Given the description of an element on the screen output the (x, y) to click on. 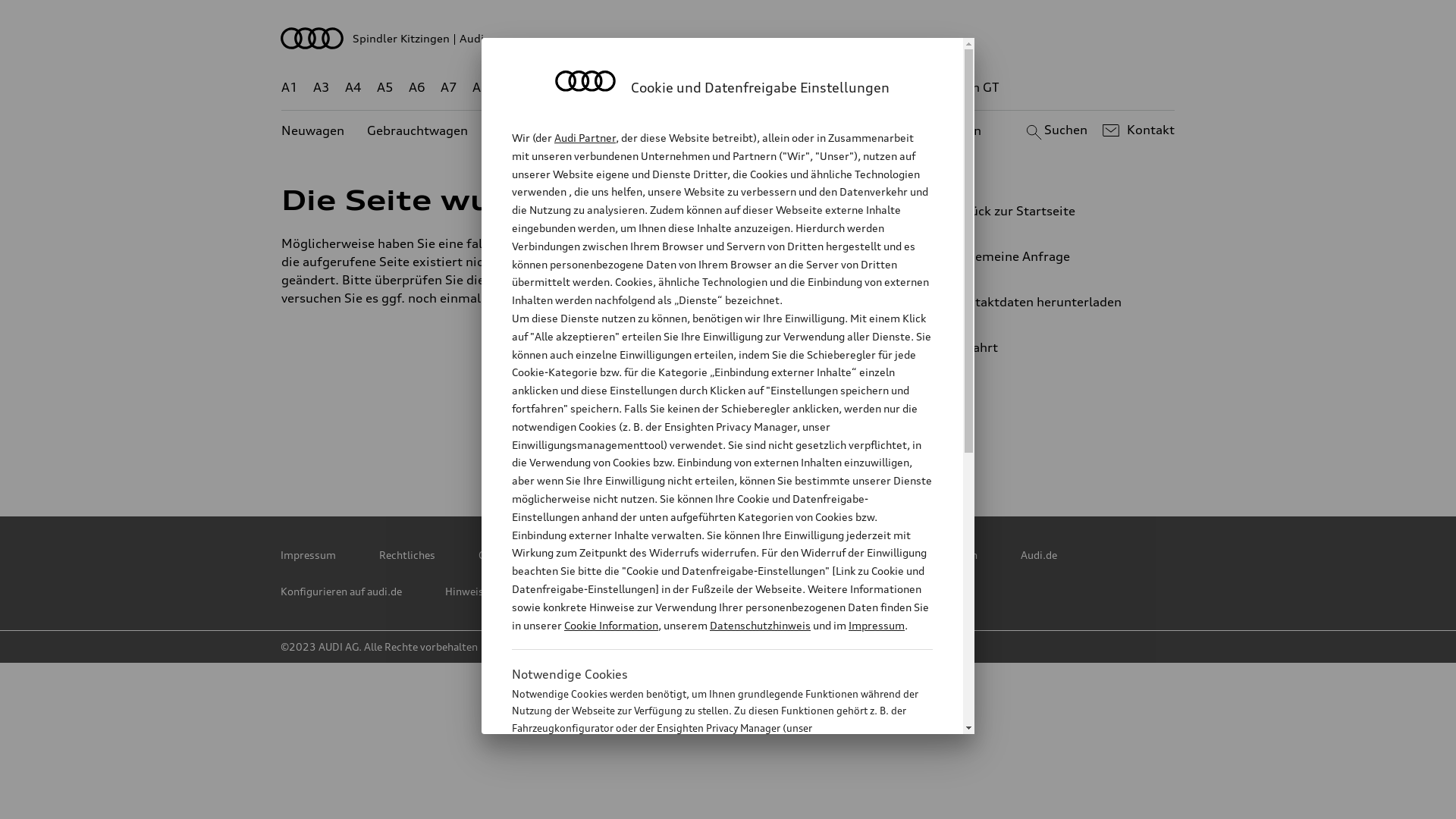
Twitter Element type: hover (596, 444)
A4 Element type: text (353, 87)
g-tron Element type: text (908, 87)
TT Element type: text (820, 87)
RS Element type: text (866, 87)
Datenschutzhinweis Element type: text (759, 624)
Pinterest Element type: hover (663, 444)
Cookie Information Element type: text (611, 624)
Hinweisgebersystem Element type: text (495, 591)
Spindler Kitzingen | Audi Element type: text (727, 38)
A5 Element type: text (384, 87)
Facebook Element type: hover (730, 444)
Copyright & Haftungsausschluss Element type: text (557, 554)
A1 Element type: text (289, 87)
A8 Element type: text (480, 87)
Q2 Element type: text (512, 87)
A7 Element type: text (448, 87)
Suchen Element type: text (1054, 130)
Anfahrt Element type: text (1049, 347)
Cookie Policy Element type: text (711, 554)
Impressum Element type: text (876, 624)
Rechtliches Element type: text (407, 554)
Q8 Element type: text (715, 87)
Q4 e-tron Element type: text (598, 87)
Instagram Element type: hover (863, 444)
Audi Partner Element type: text (584, 137)
Kontakt Element type: text (1135, 130)
e-tron GT Element type: text (970, 87)
Allgemeine Anfrage Element type: text (1043, 256)
Impressum Element type: text (307, 554)
Kundenservice Element type: text (736, 130)
Q3 Element type: text (545, 87)
Kontaktdaten herunterladen Element type: text (1043, 301)
Cookie und Datenfreigabe Einstellungen Element type: text (881, 554)
Cookie Information Element type: text (705, 802)
Gebrauchtwagen Element type: text (417, 130)
YouTube Element type: hover (796, 444)
A3 Element type: text (321, 87)
Angebote Element type: text (641, 130)
Audi.de Element type: text (1038, 554)
Q8 e-tron Element type: text (768, 87)
Q7 Element type: text (683, 87)
Q5 Element type: text (650, 87)
Neuwagen Element type: text (312, 130)
Konfigurieren auf audi.de Element type: text (340, 591)
A6 Element type: text (416, 87)
